Given the description of an element on the screen output the (x, y) to click on. 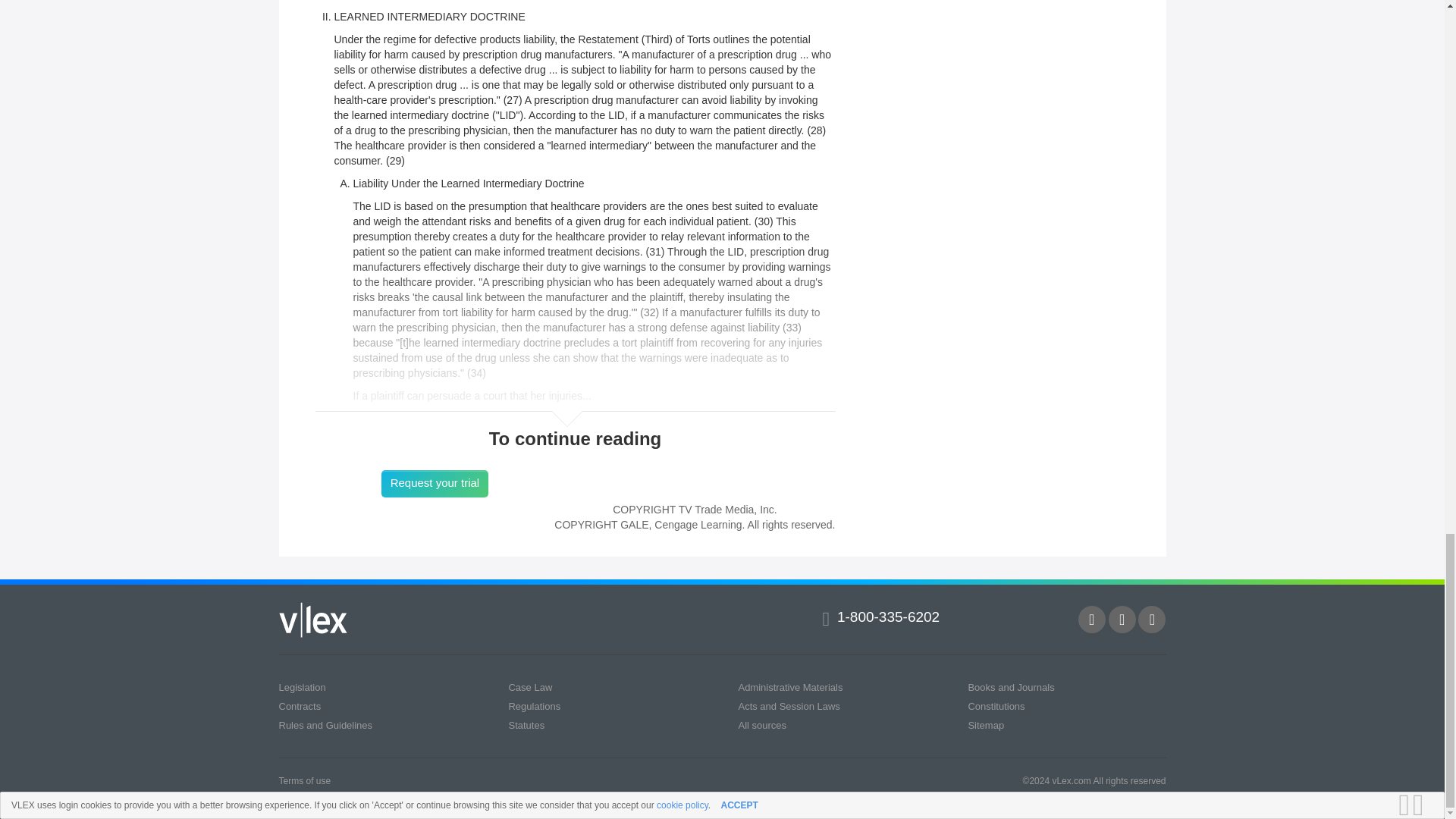
Case Law (529, 686)
Administrative Materials (790, 686)
Statutes (526, 725)
Contracts (300, 706)
Books and Journals (1011, 686)
Contracts (300, 706)
vLex (313, 619)
Regulations (534, 706)
Regulations (534, 706)
Case Law (529, 686)
Legislation (302, 686)
Legislation (302, 686)
Sitemap (986, 725)
All sources (762, 725)
Books and Journals (1011, 686)
